Given the description of an element on the screen output the (x, y) to click on. 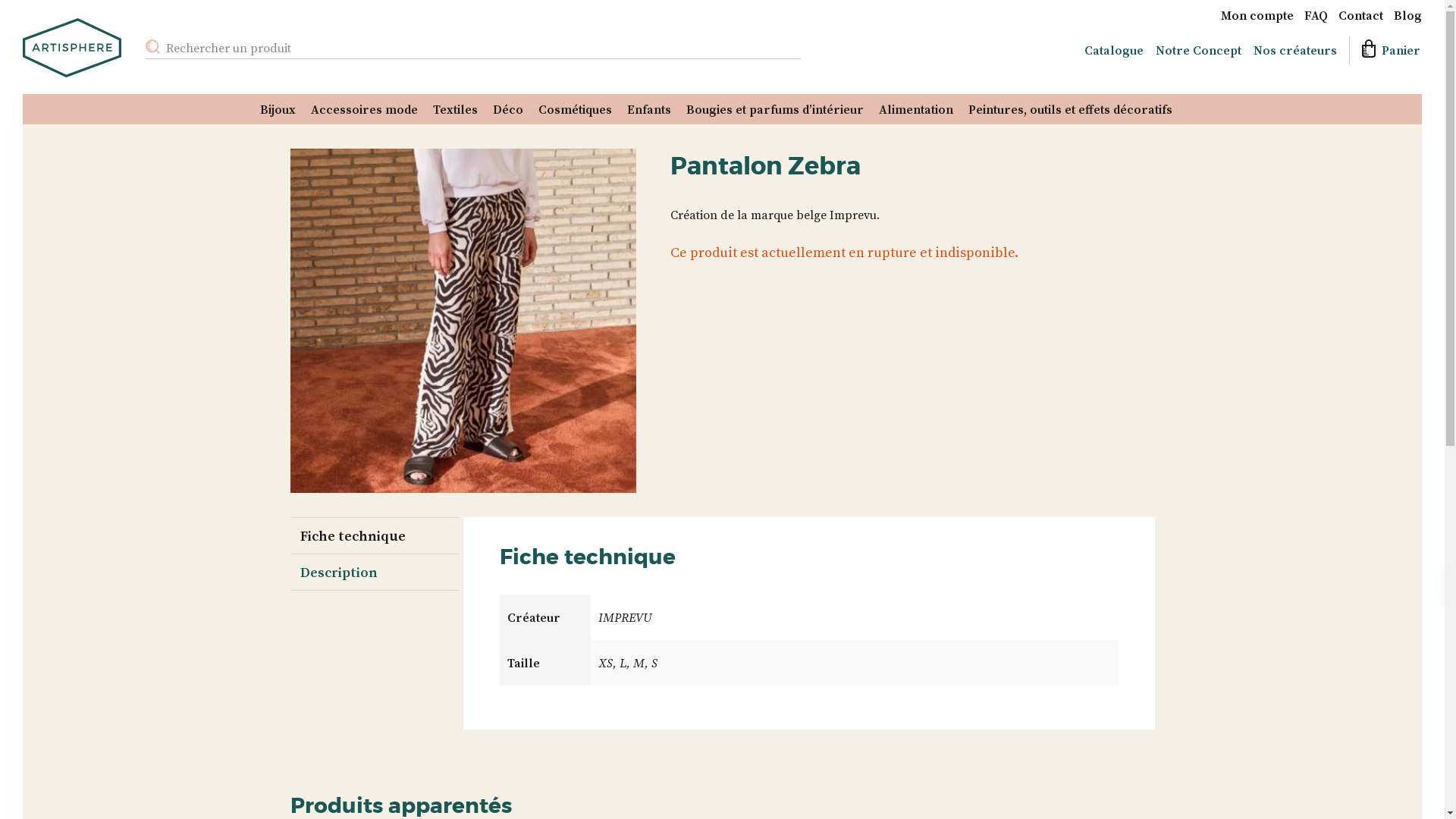
Recherche Element type: text (1407, 70)
Catalogue Element type: text (1113, 49)
Skip to content Element type: text (21, 123)
im69 Element type: hover (462, 320)
Notre Concept Element type: text (1198, 49)
Textiles Element type: text (455, 109)
Accessoires mode Element type: text (363, 109)
Description Element type: text (372, 571)
Contact Element type: text (1360, 15)
Enfants Element type: text (649, 109)
Panier Element type: text (1383, 50)
Alimentation Element type: text (915, 109)
Mon compte Element type: text (1256, 15)
Fiche technique Element type: text (372, 535)
Blog Element type: text (1407, 15)
Bijoux Element type: text (277, 109)
FAQ Element type: text (1315, 15)
